Given the description of an element on the screen output the (x, y) to click on. 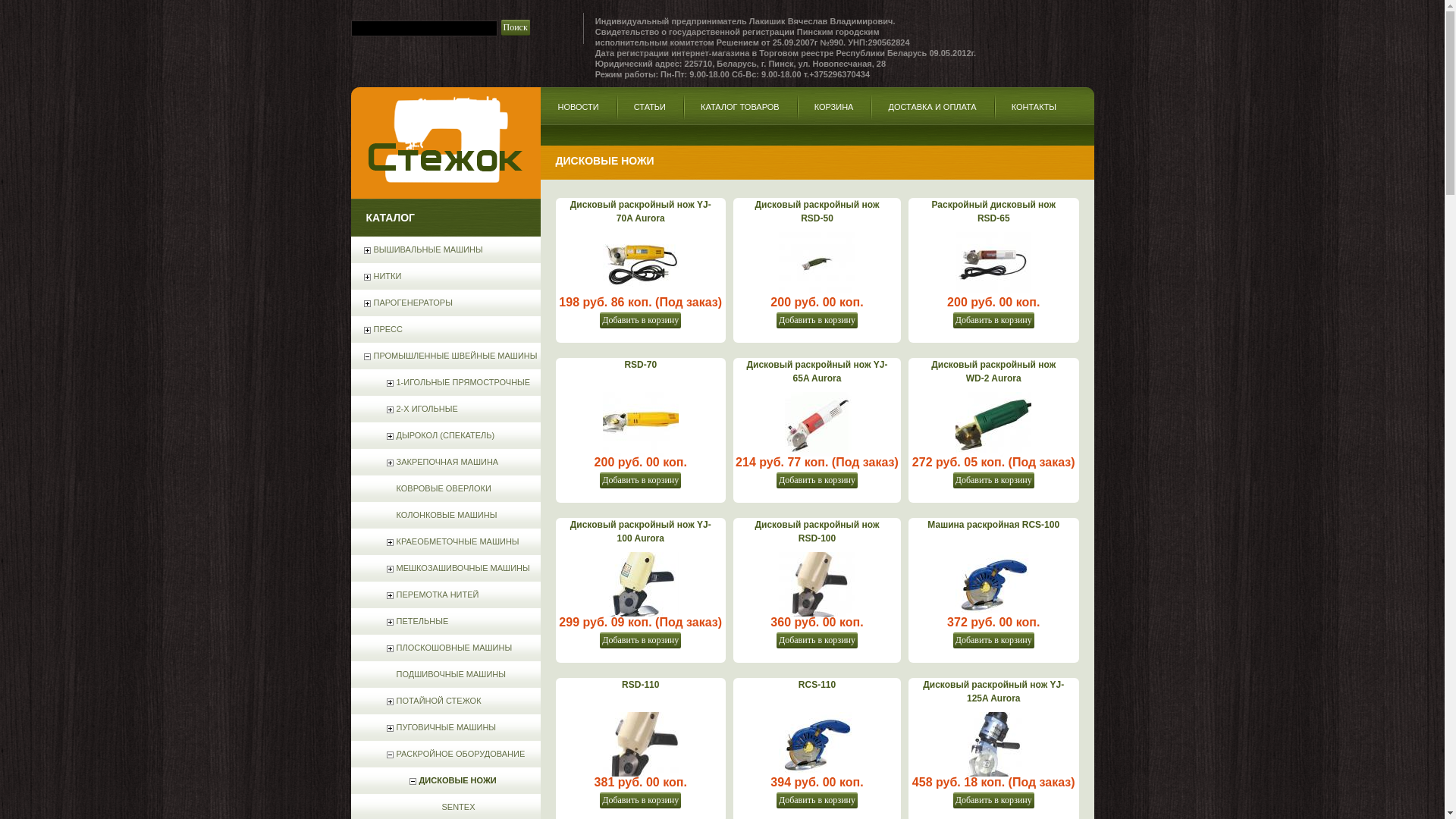
RCS-110 Element type: text (816, 684)
RSD-70 Element type: text (640, 364)
SENTEX Element type: text (446, 806)
RSD-110 Element type: text (640, 684)
